Given the description of an element on the screen output the (x, y) to click on. 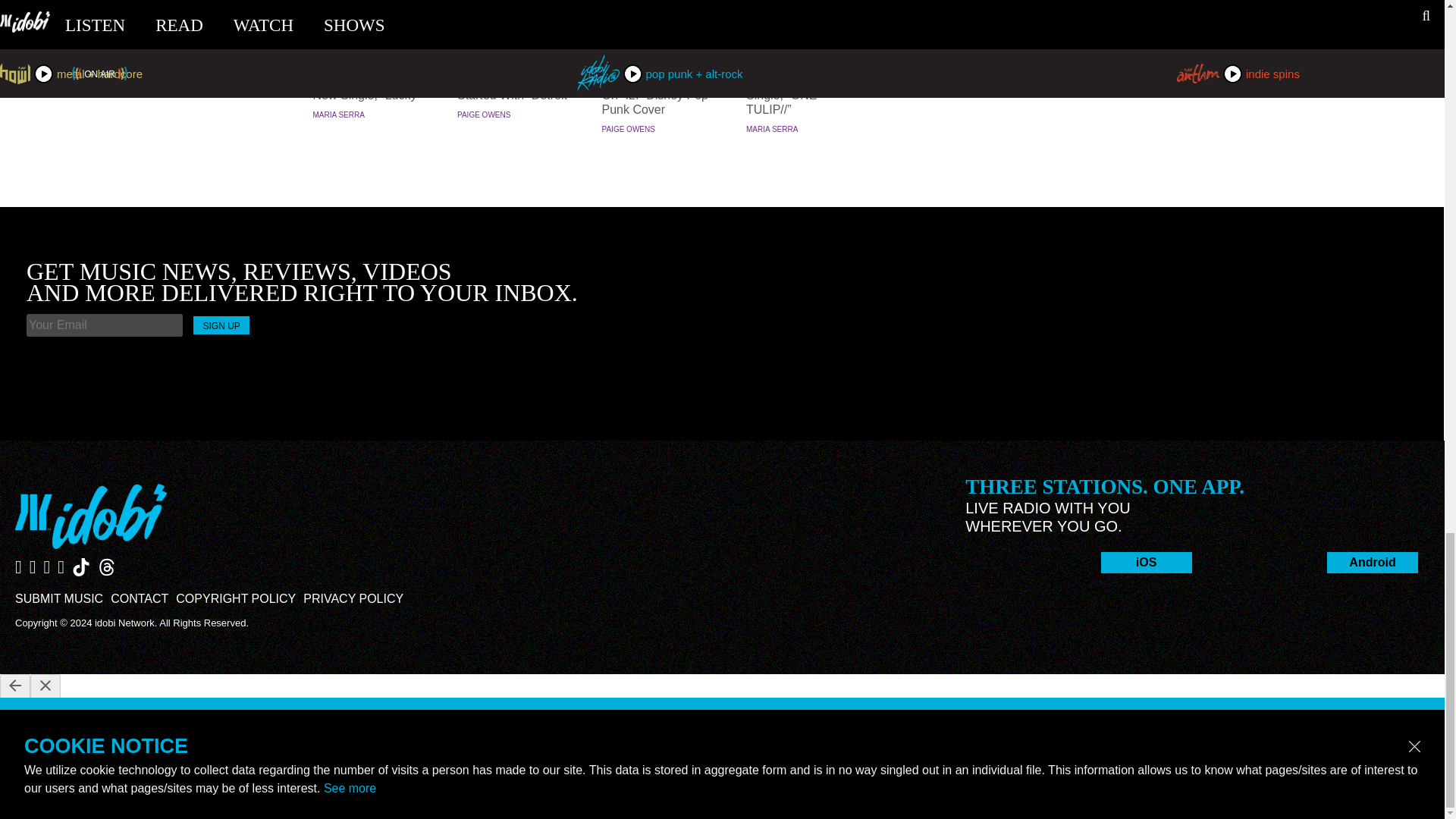
Paige Owens (628, 129)
NEWS (803, 50)
MARIA SERRA (771, 129)
Paige Owens (484, 114)
SIGN UP (220, 325)
MARIA SERRA (338, 114)
NEWS (659, 50)
Maria Serra (338, 114)
PAIGE OWENS (628, 129)
NEWS (369, 50)
NEWS (514, 50)
PAIGE OWENS (484, 114)
Maria Serra (771, 129)
